Given the description of an element on the screen output the (x, y) to click on. 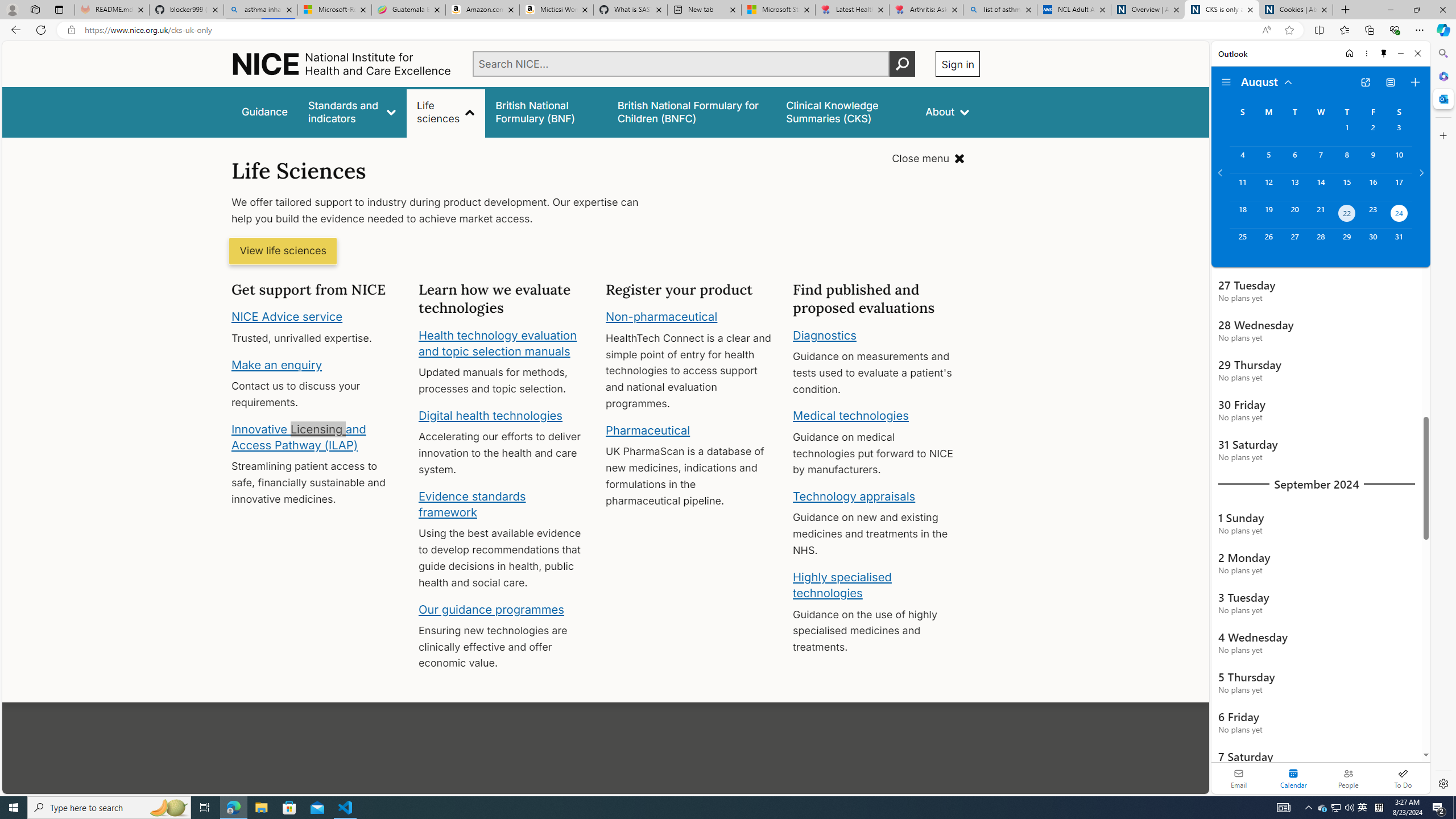
Create event (1414, 82)
Friday, August 23, 2024.  (1372, 214)
Friday, August 16, 2024.  (1372, 186)
Saturday, August 10, 2024.  (1399, 159)
Thursday, August 15, 2024.  (1346, 186)
Thursday, August 8, 2024.  (1346, 159)
